Given the description of an element on the screen output the (x, y) to click on. 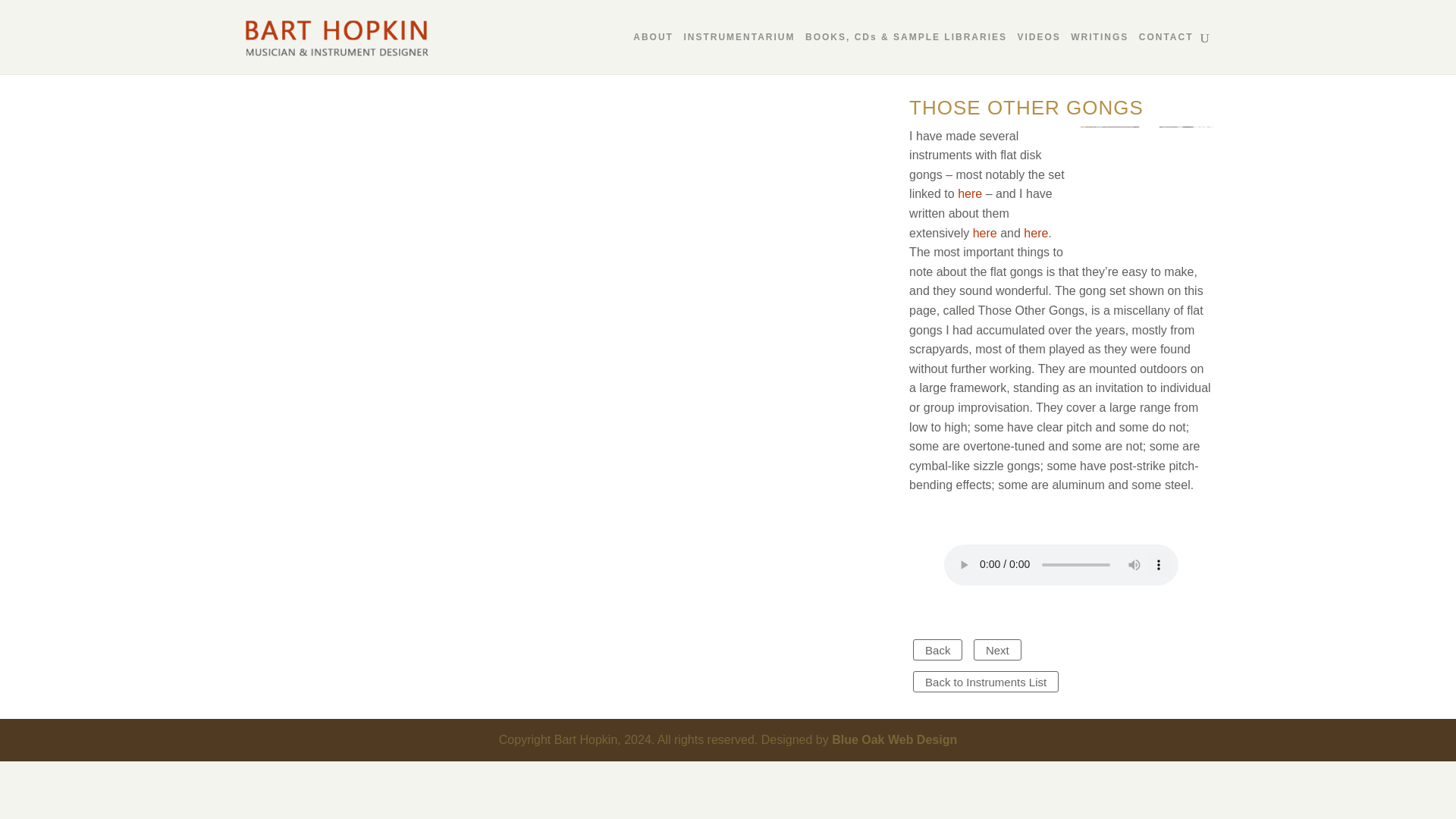
Next (998, 649)
ABOUT (652, 52)
here (984, 232)
WRITINGS (1099, 52)
VIDEOS (1037, 52)
here (1035, 232)
Back (937, 649)
CONTACT (1165, 52)
here (969, 193)
Blue Oak Web Design (893, 739)
